Given the description of an element on the screen output the (x, y) to click on. 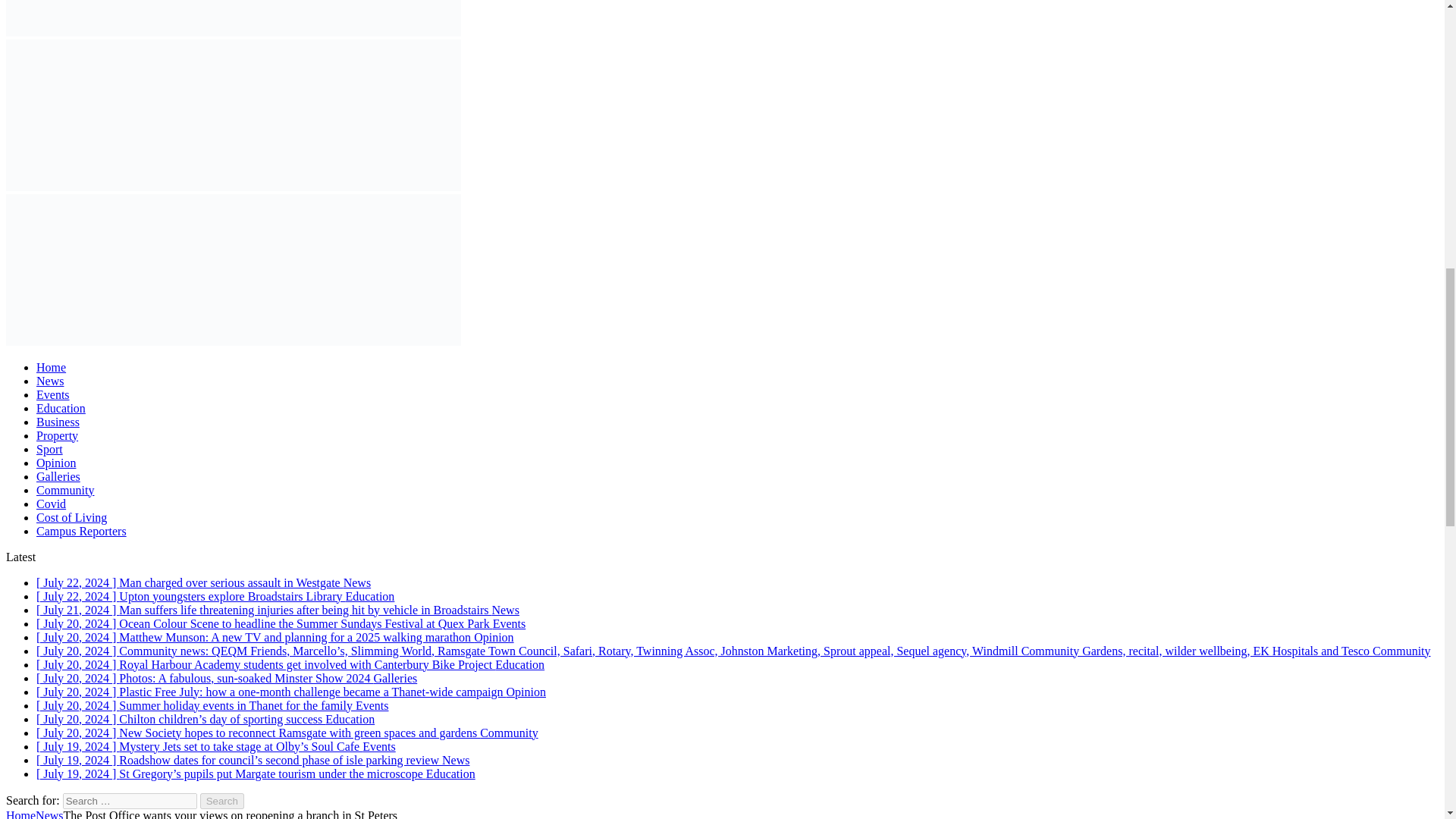
Search (222, 801)
Sport (49, 449)
Upton youngsters explore Broadstairs Library (215, 595)
News (50, 380)
Community (65, 490)
Summer holiday events in Thanet for the family (212, 705)
Search (222, 801)
Photos: A fabulous, sun-soaked Minster Show 2024 (226, 677)
Business (58, 421)
Cost of Living (71, 517)
Home (50, 367)
Covid (50, 503)
Opinion (55, 462)
